Given the description of an element on the screen output the (x, y) to click on. 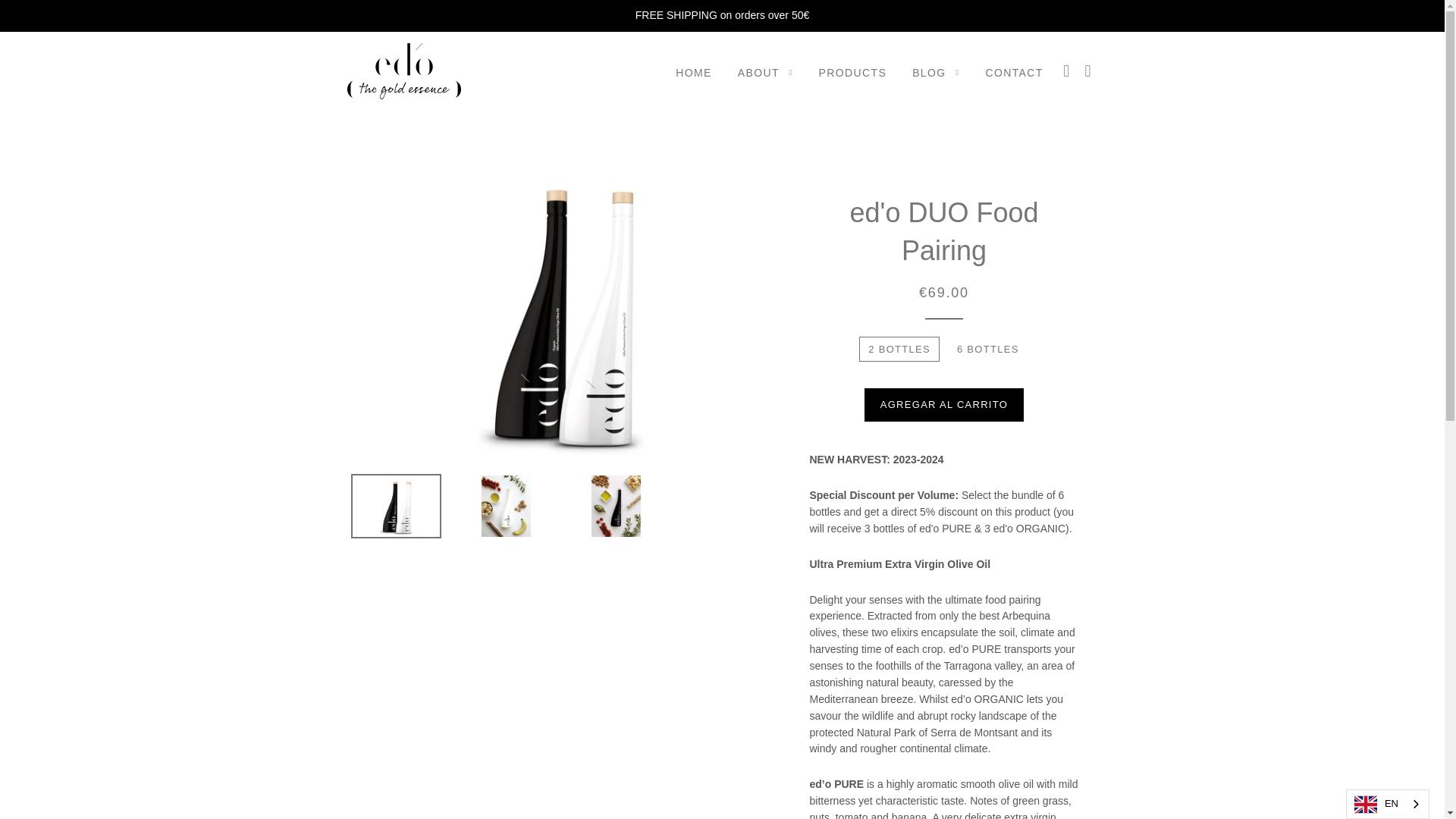
BLOG (936, 73)
ABOUT (765, 73)
CONTACT (1014, 73)
HOME (693, 73)
CARRITO (1087, 70)
PRODUCTS (852, 73)
INGRESAR (1066, 70)
AGREGAR AL CARRITO (943, 404)
